Given the description of an element on the screen output the (x, y) to click on. 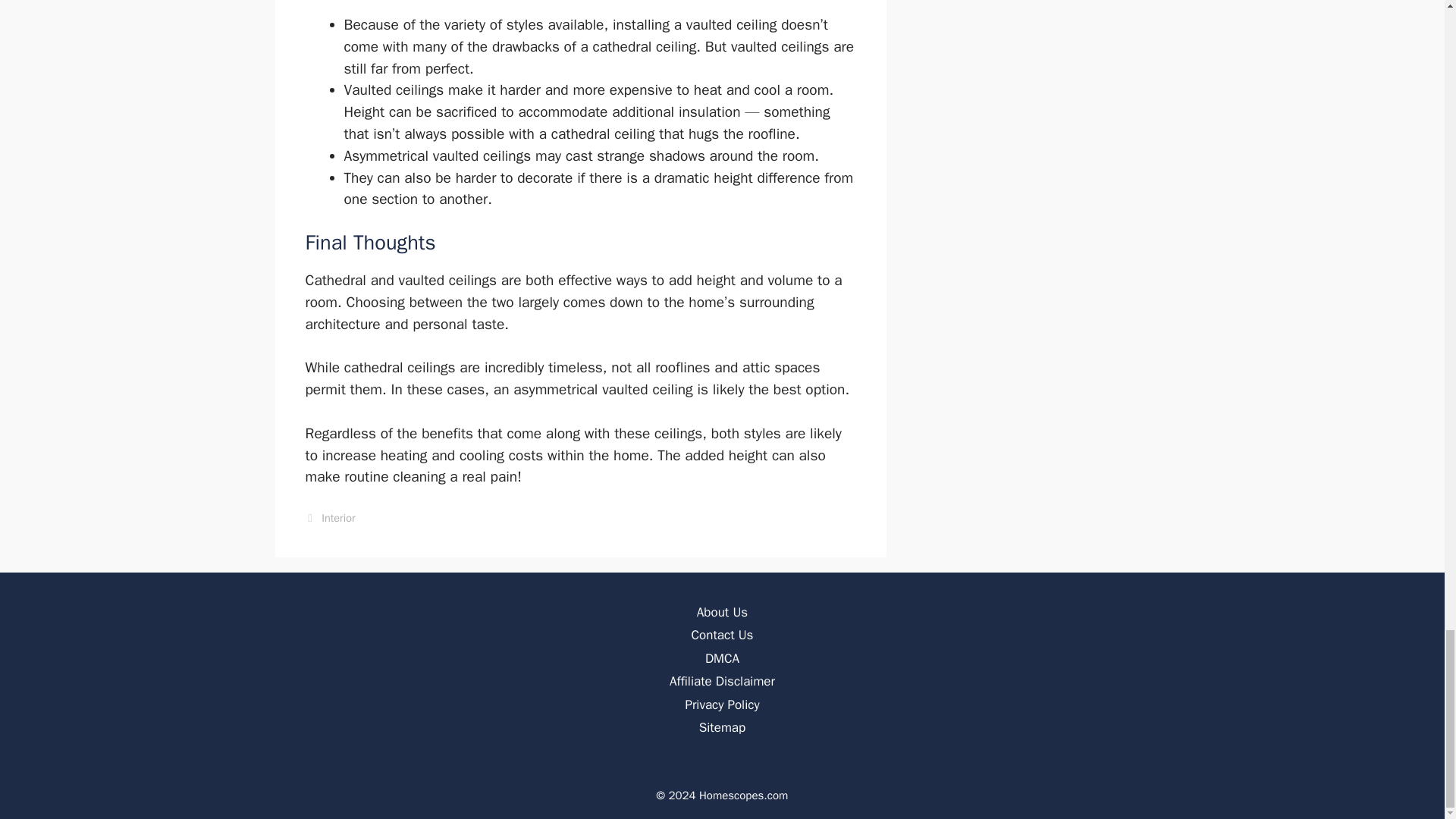
About Us (722, 611)
Privacy Policy (721, 704)
Contact Us (722, 634)
Affiliate Disclaimer (721, 681)
Sitemap (721, 727)
Interior (338, 517)
DMCA (721, 658)
